Given the description of an element on the screen output the (x, y) to click on. 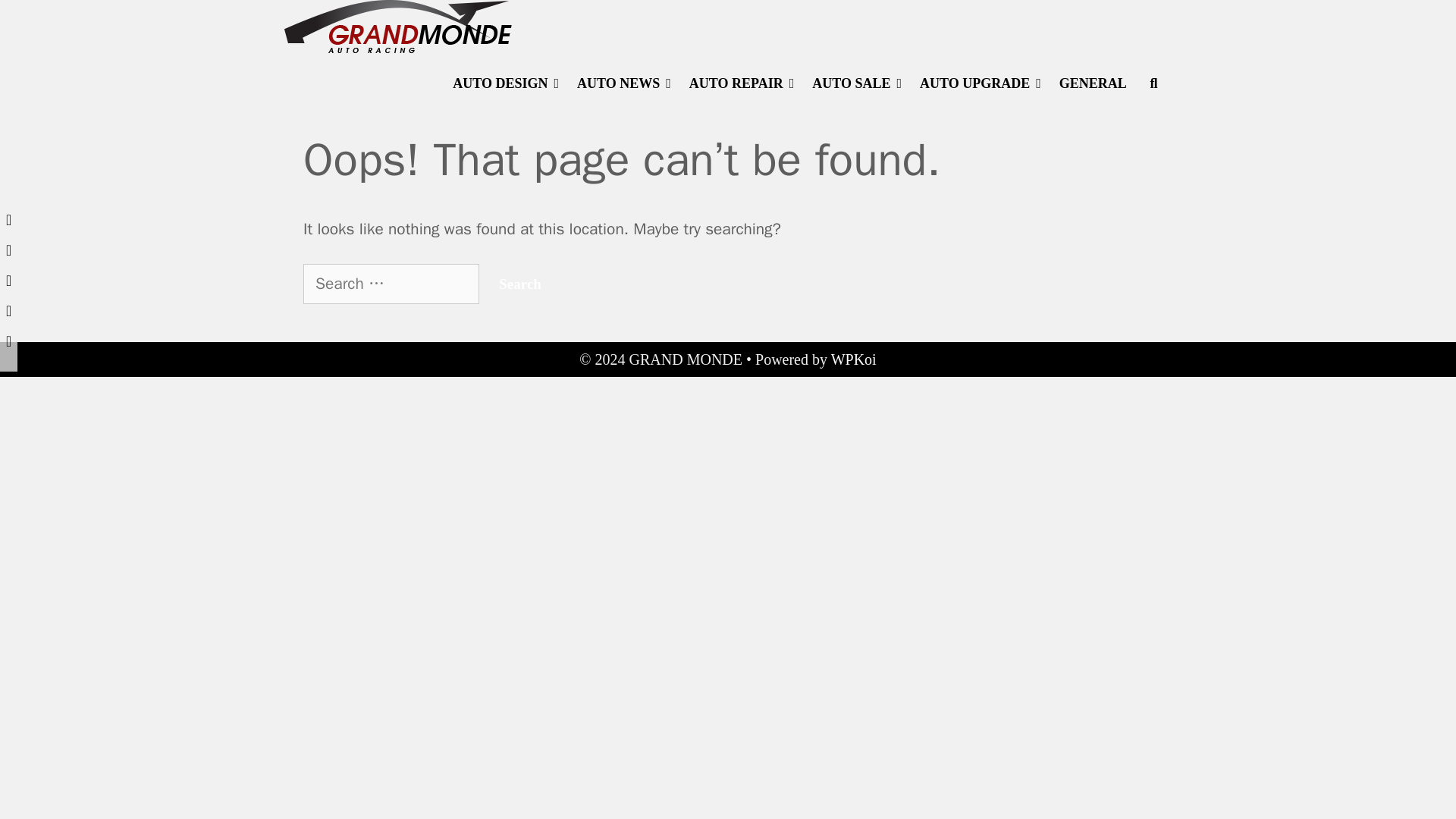
WPKoi (853, 359)
Search for: (390, 283)
AUTO SALE (857, 83)
AUTO DESIGN (505, 83)
Search (519, 284)
AUTO UPGRADE (980, 83)
AUTO NEWS (623, 83)
Search (364, 30)
